Given the description of an element on the screen output the (x, y) to click on. 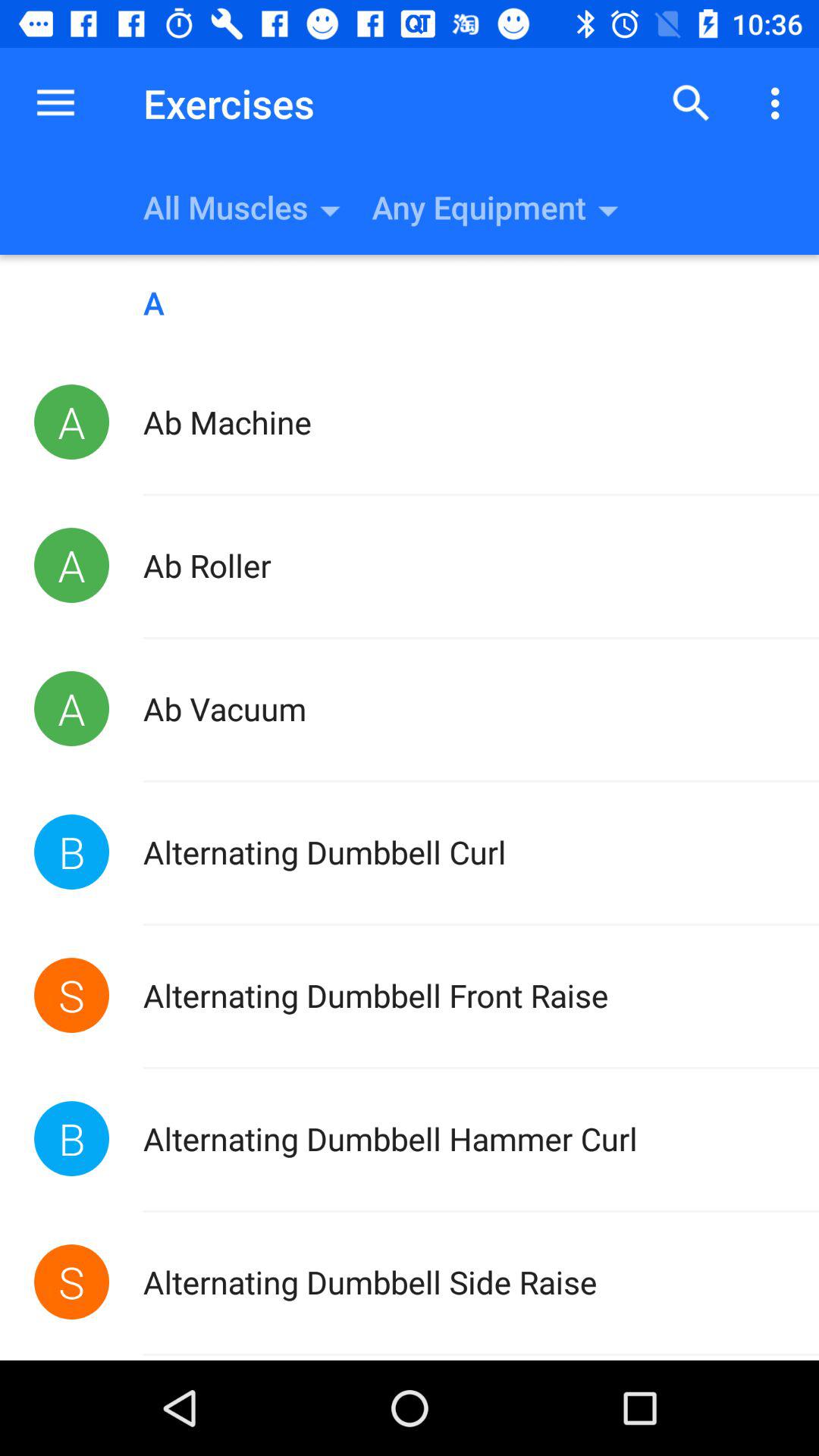
tap the item to the right of exercises item (691, 103)
